Given the description of an element on the screen output the (x, y) to click on. 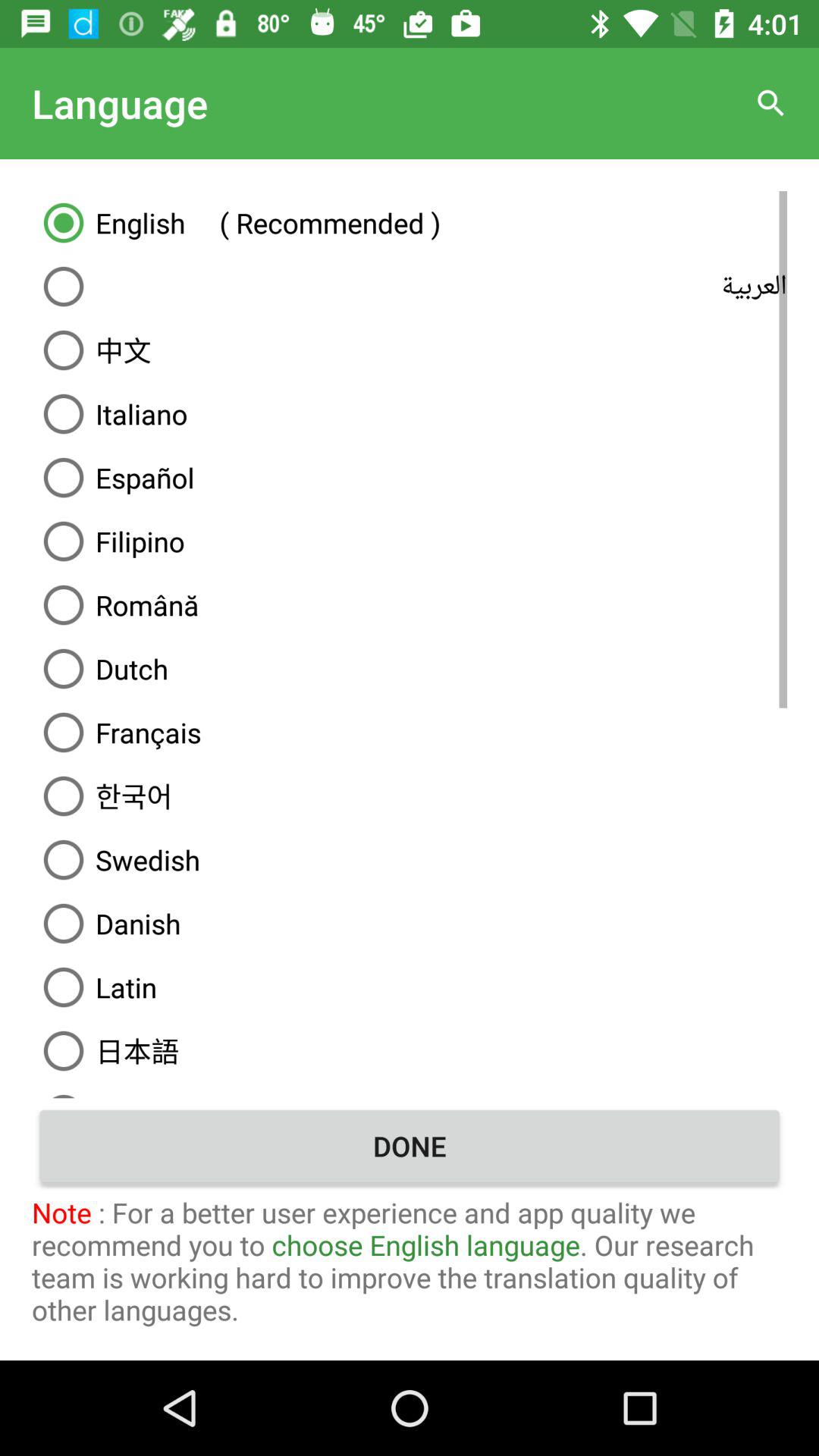
choose the item above the dutch icon (409, 605)
